Given the description of an element on the screen output the (x, y) to click on. 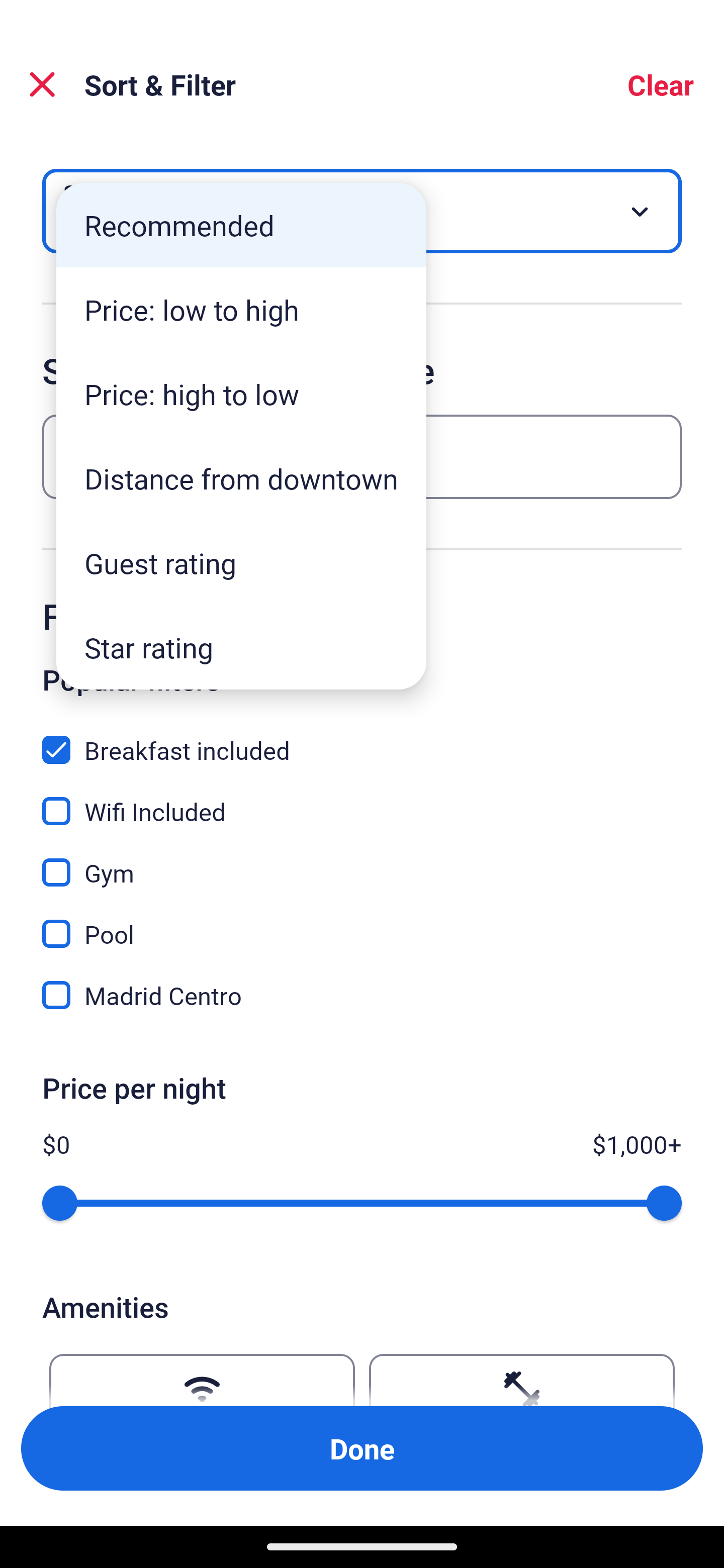
Price: low to high (241, 309)
Price: high to low (241, 393)
Distance from downtown (241, 477)
Guest rating (241, 562)
Star rating (241, 647)
